Given the description of an element on the screen output the (x, y) to click on. 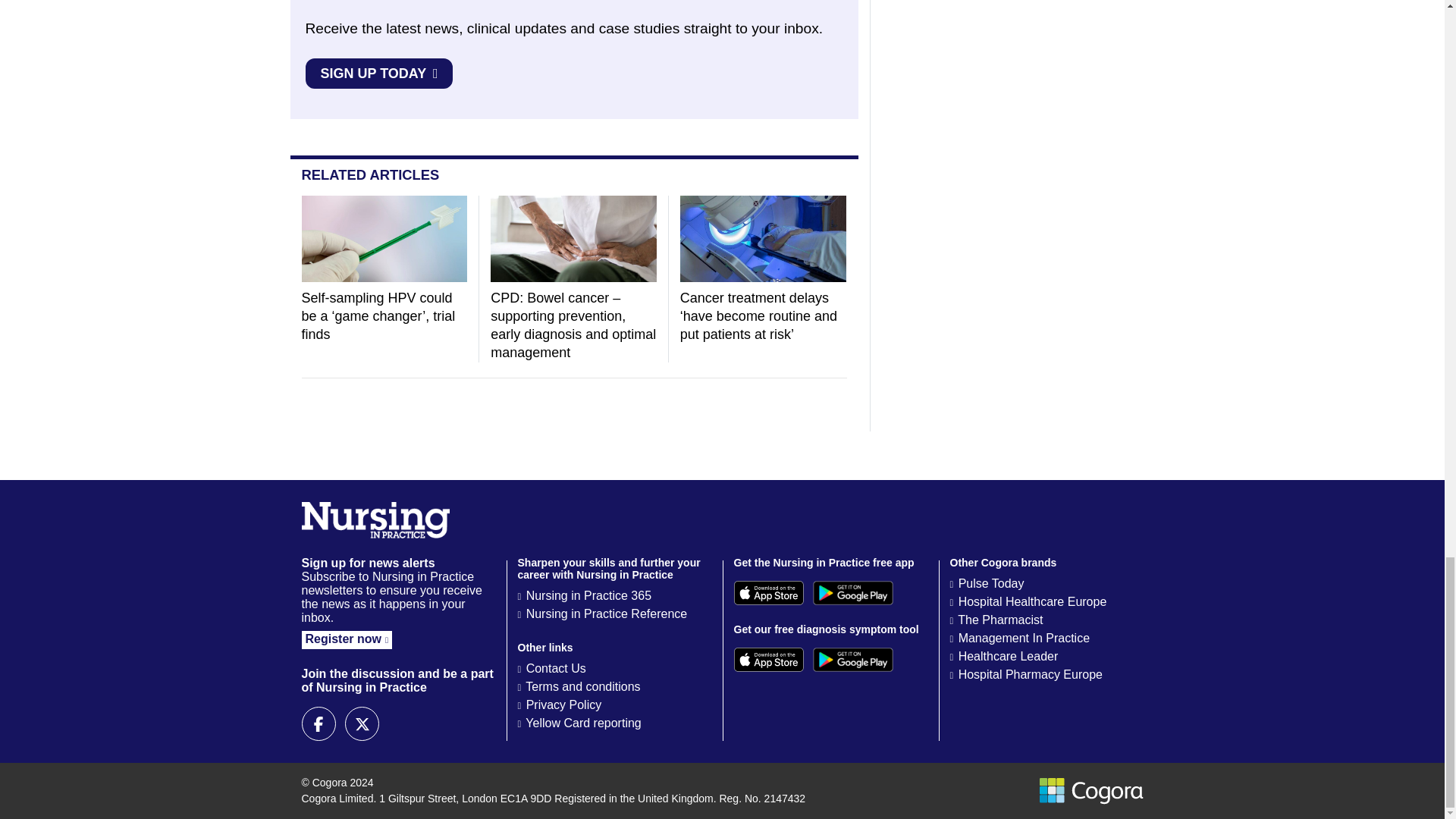
Download our app from Google Play (852, 592)
Healthcare Leader (1008, 656)
Download our app from Google Play (852, 659)
Hospital Pharmacy Europe (1030, 674)
Hospital Healthcare Europe (1032, 601)
Download our app from the Apple App Store (768, 659)
Management In Practice (1023, 637)
Download our app from the Apple App Store (768, 592)
Pulse Today (991, 583)
The Pharmacist (1000, 619)
